Given the description of an element on the screen output the (x, y) to click on. 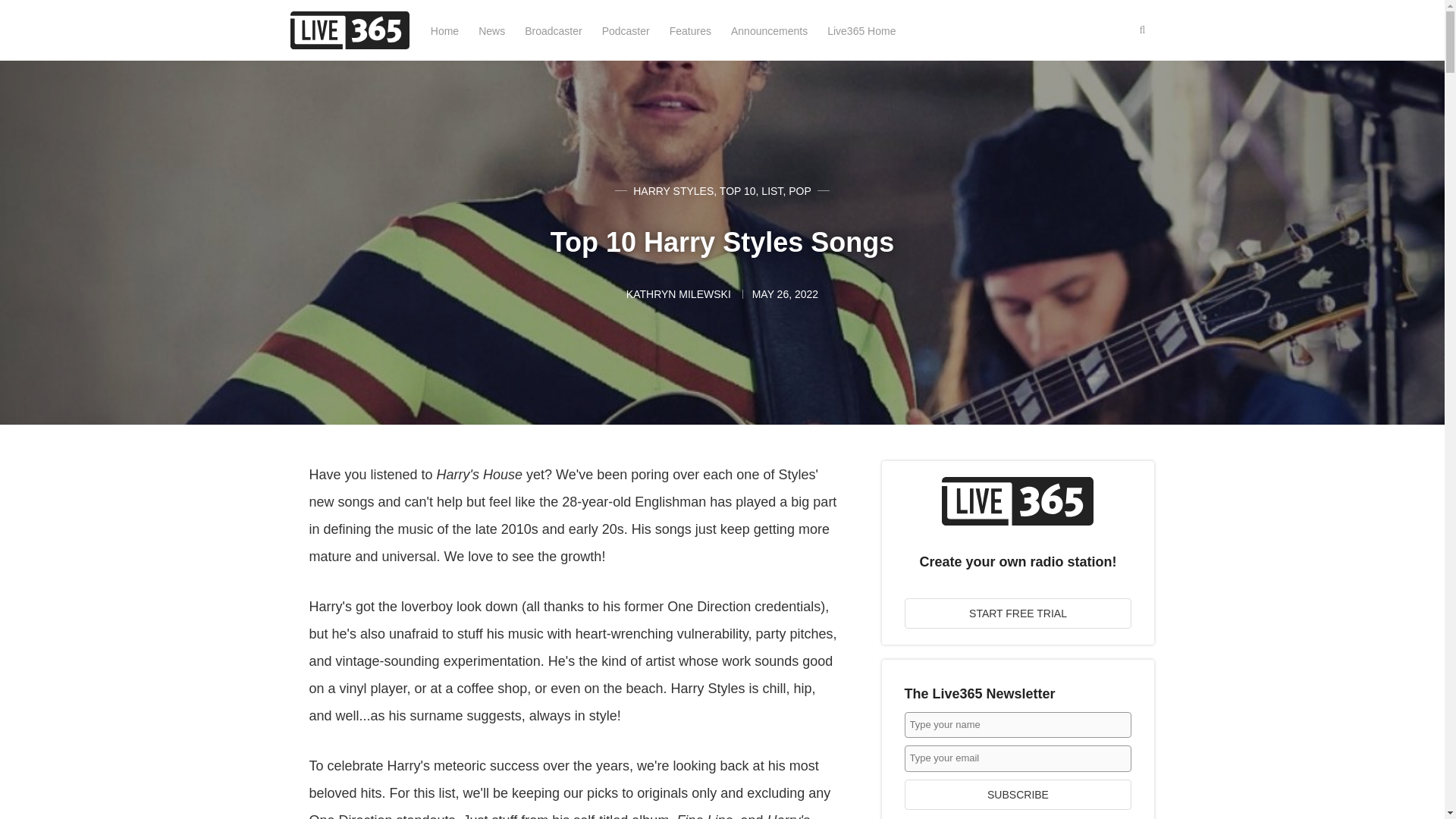
Broadcaster (552, 30)
Podcaster (625, 30)
TOP 10 (737, 191)
Home (444, 30)
Features (690, 30)
LIST (772, 191)
KATHRYN MILEWSKI (679, 294)
HARRY STYLES (673, 191)
News (492, 30)
Live365 Home (861, 30)
POP (799, 191)
START FREE TRIAL (1017, 613)
Announcements (769, 30)
